Given the description of an element on the screen output the (x, y) to click on. 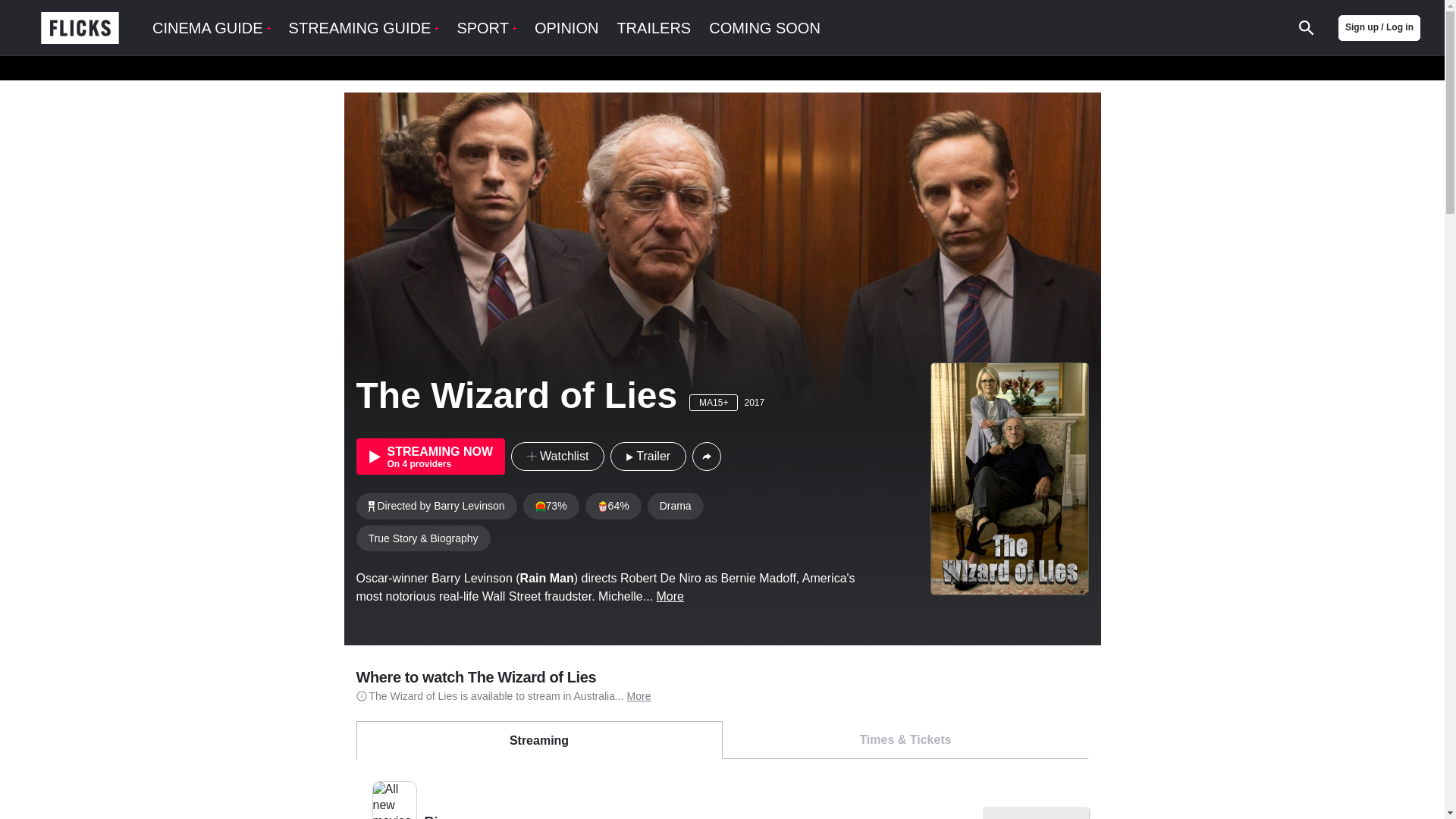
Add to your watch list (557, 456)
OPINION (566, 28)
Directed by Barry Levinson (436, 505)
STREAMING GUIDE (363, 28)
COMING SOON (765, 28)
EVERYTHING (352, 77)
SPORT (486, 28)
MOVIES (200, 77)
Search site (1306, 28)
EVERYTHING (553, 77)
